Given the description of an element on the screen output the (x, y) to click on. 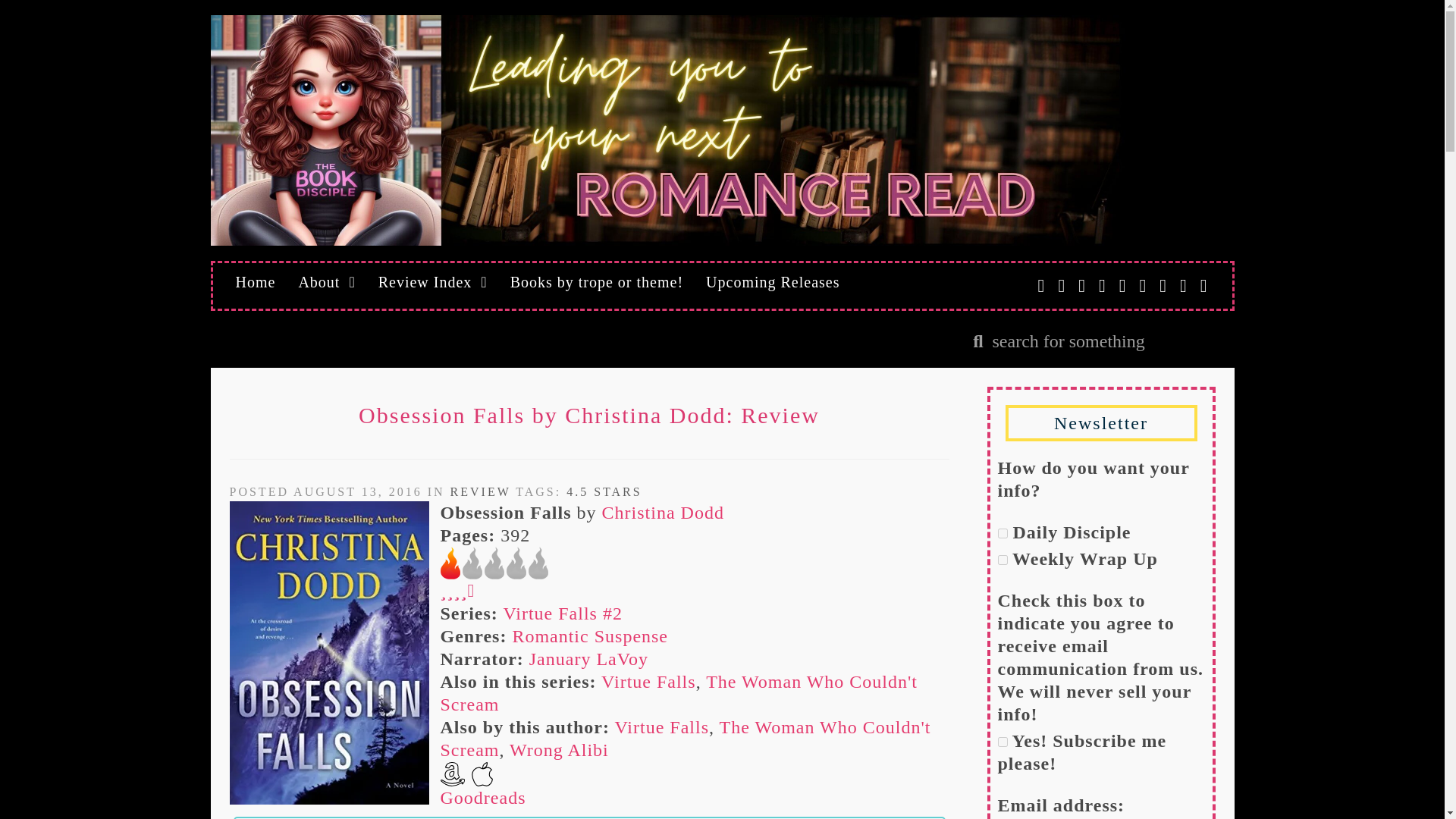
The Woman Who Couldn't Scream (684, 738)
Virtue Falls (648, 681)
Review Index   (432, 281)
ab7c8b567e (1002, 741)
Upcoming Releases (772, 281)
Christina Dodd (662, 512)
Wrong Alibi (558, 750)
a8df5c4d04 (1002, 560)
The Woman Who Couldn't Scream (678, 692)
January LaVoy (588, 659)
Romantic Suspense (590, 636)
Books by trope or theme! (596, 281)
Home (255, 281)
7e4d080c93 (1002, 533)
4.5 STARS (604, 491)
